Given the description of an element on the screen output the (x, y) to click on. 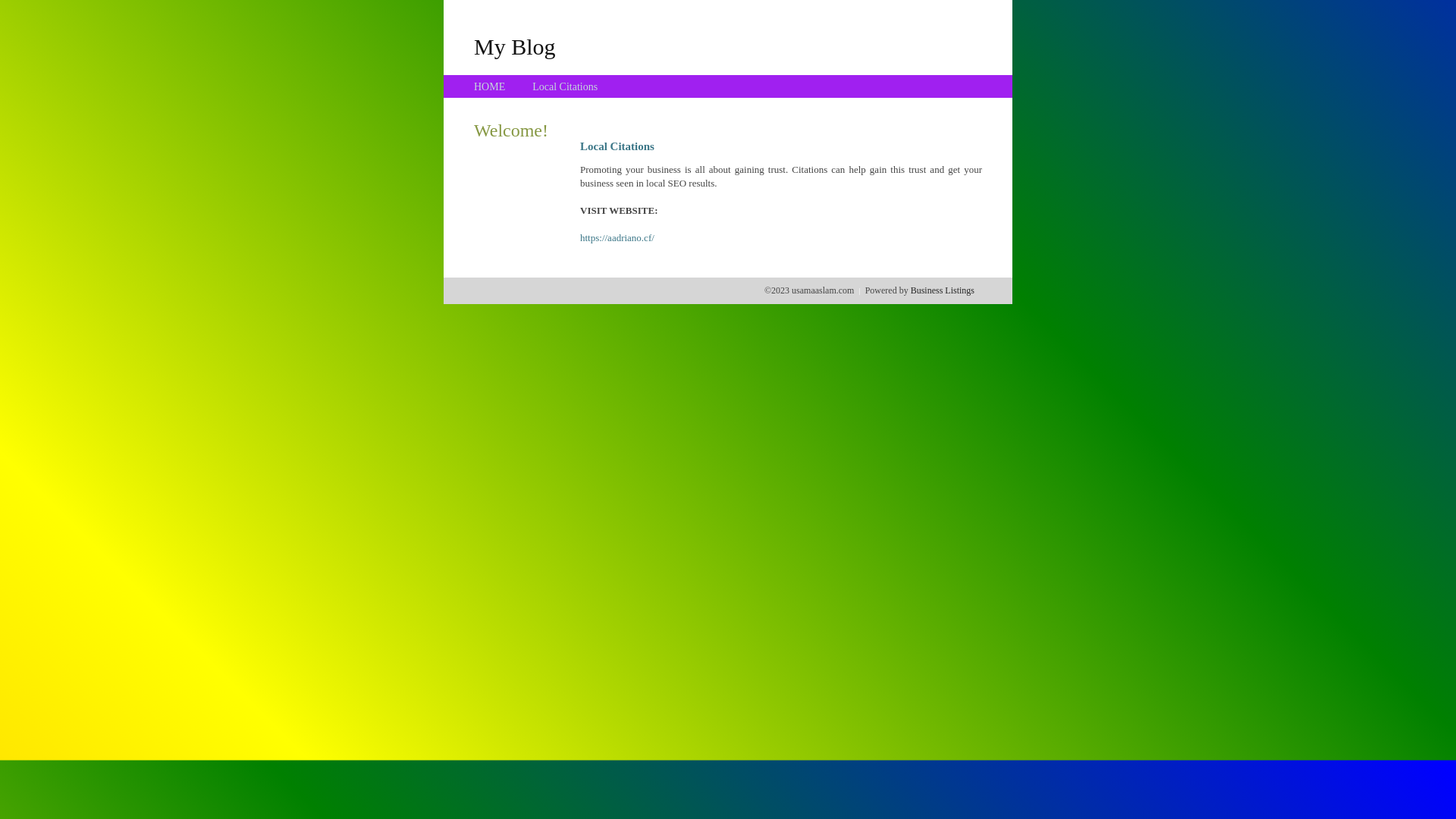
Business Listings Element type: text (942, 290)
https://aadriano.cf/ Element type: text (617, 237)
My Blog Element type: text (514, 46)
HOME Element type: text (489, 86)
Local Citations Element type: text (564, 86)
